Given the description of an element on the screen output the (x, y) to click on. 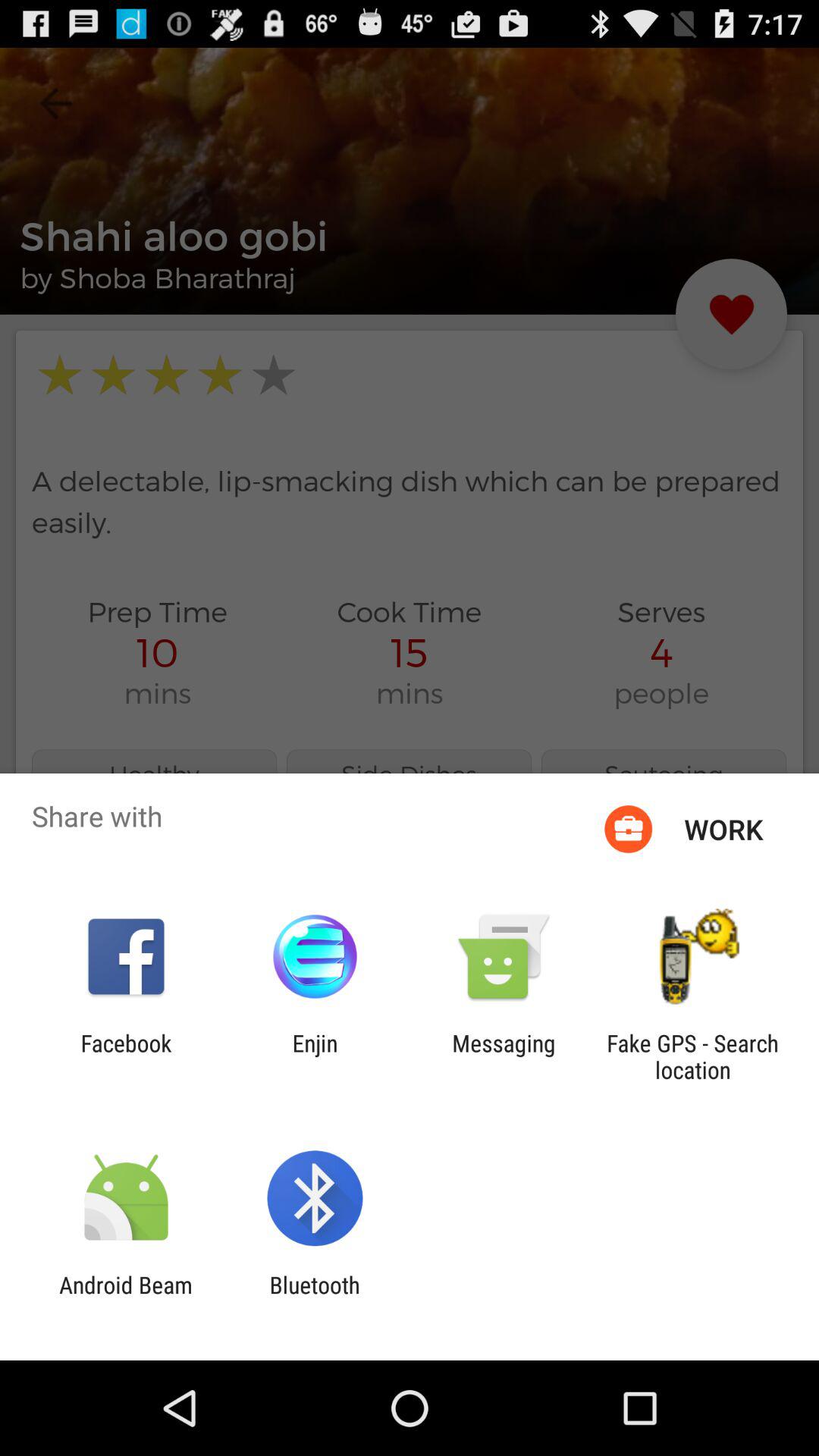
turn off icon to the right of android beam icon (314, 1298)
